Given the description of an element on the screen output the (x, y) to click on. 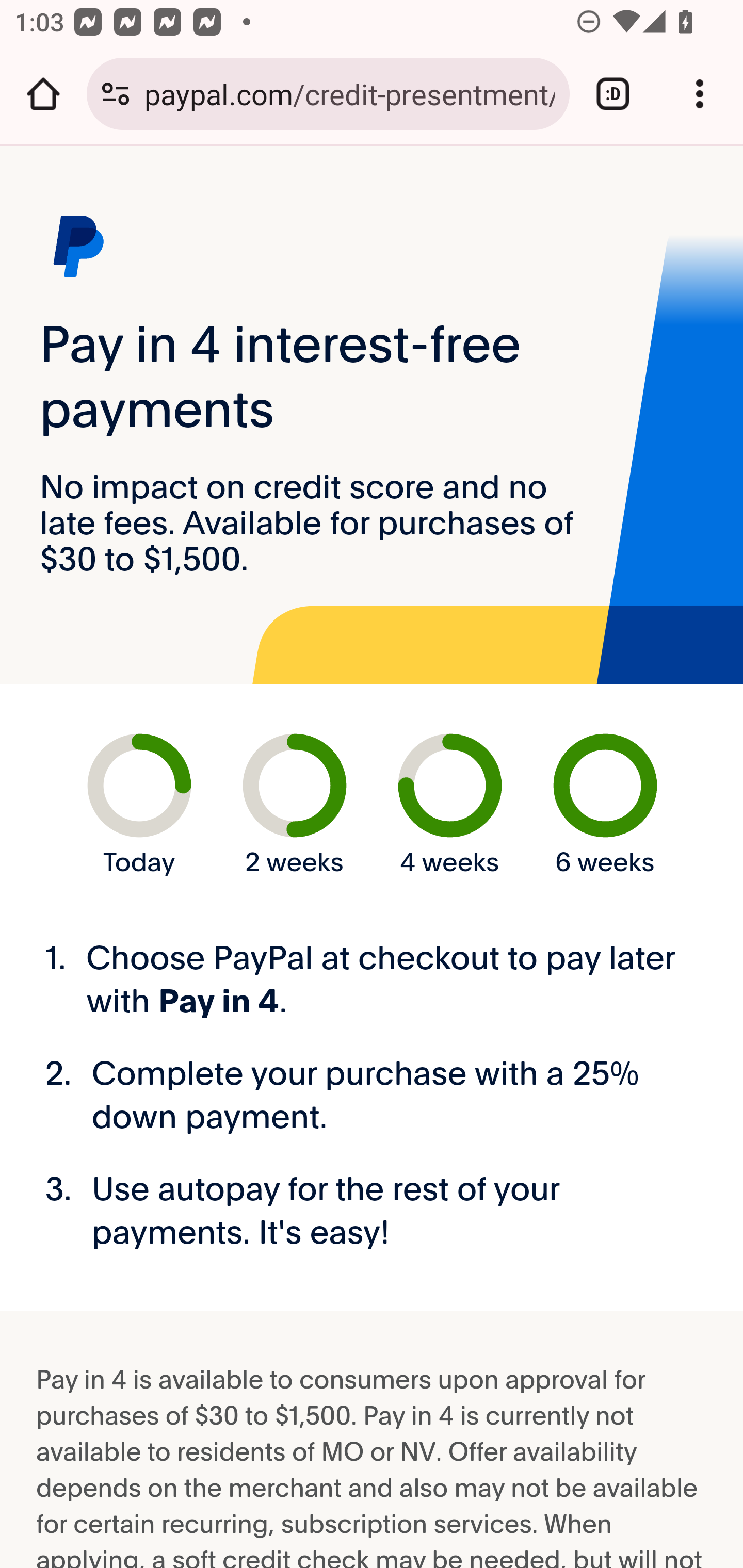
Open the home page (43, 93)
Connection is secure (115, 93)
Switch or close tabs (612, 93)
Customize and control Google Chrome (699, 93)
